Given the description of an element on the screen output the (x, y) to click on. 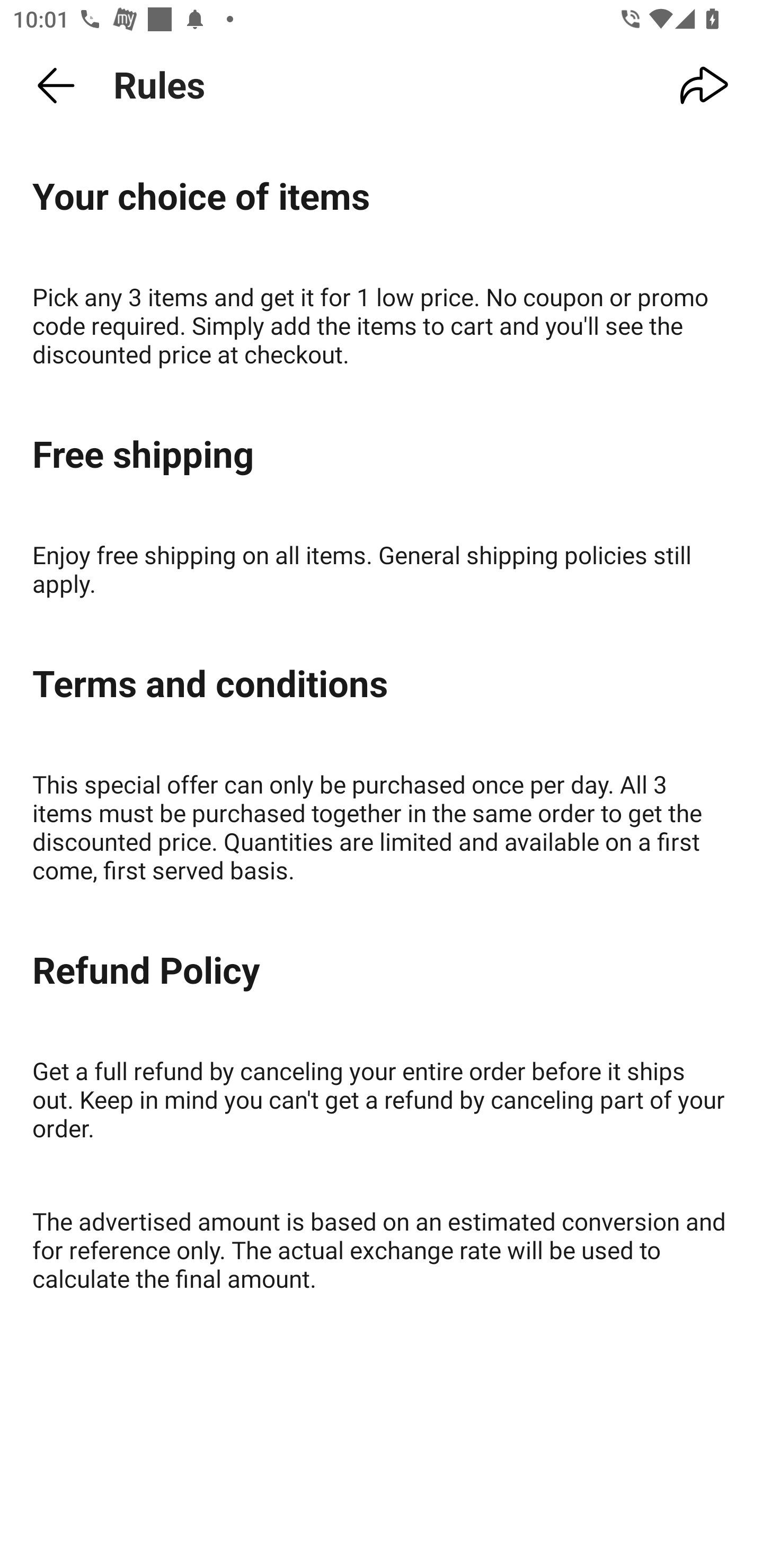
 (56, 86)
 (704, 86)
Your choice of items (381, 197)
Free shipping (381, 455)
Terms and conditions (381, 684)
Refund Policy (381, 971)
